Given the description of an element on the screen output the (x, y) to click on. 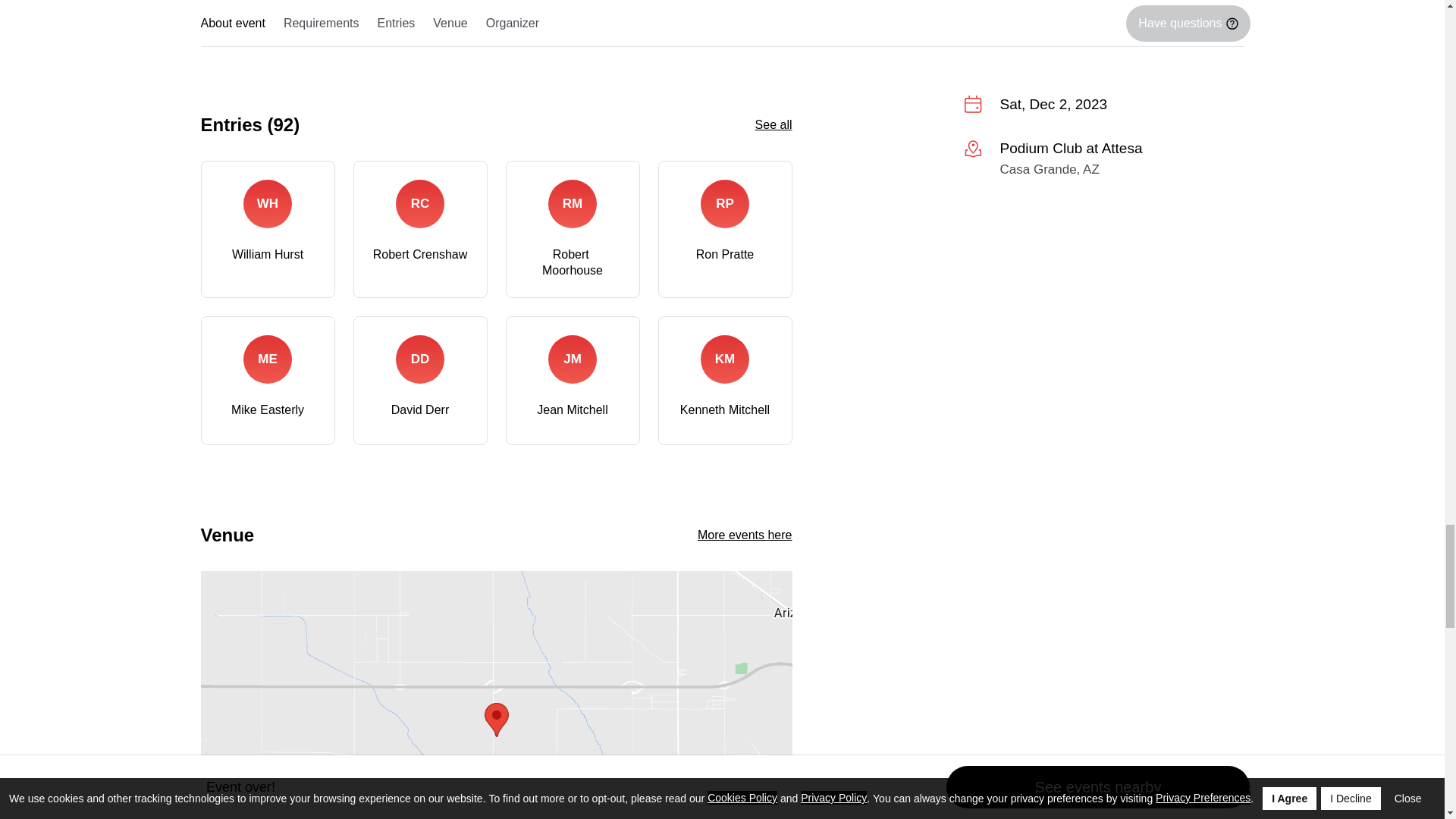
See all (773, 124)
More events here (744, 534)
